Given the description of an element on the screen output the (x, y) to click on. 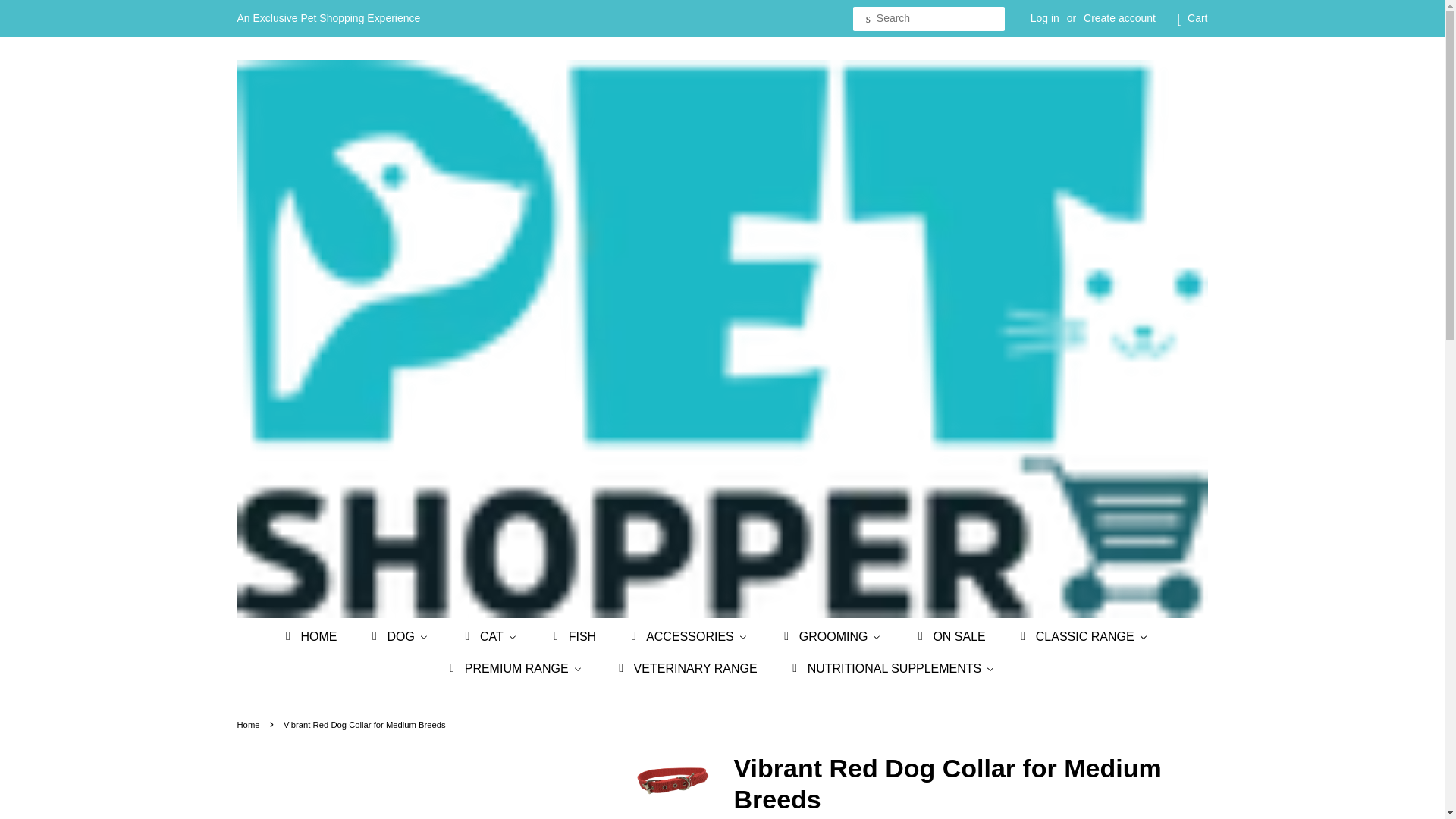
An Exclusive Pet Shopping Experience (327, 18)
Cart (1197, 18)
Create account (1119, 18)
Log in (1044, 18)
SEARCH (868, 18)
